Given the description of an element on the screen output the (x, y) to click on. 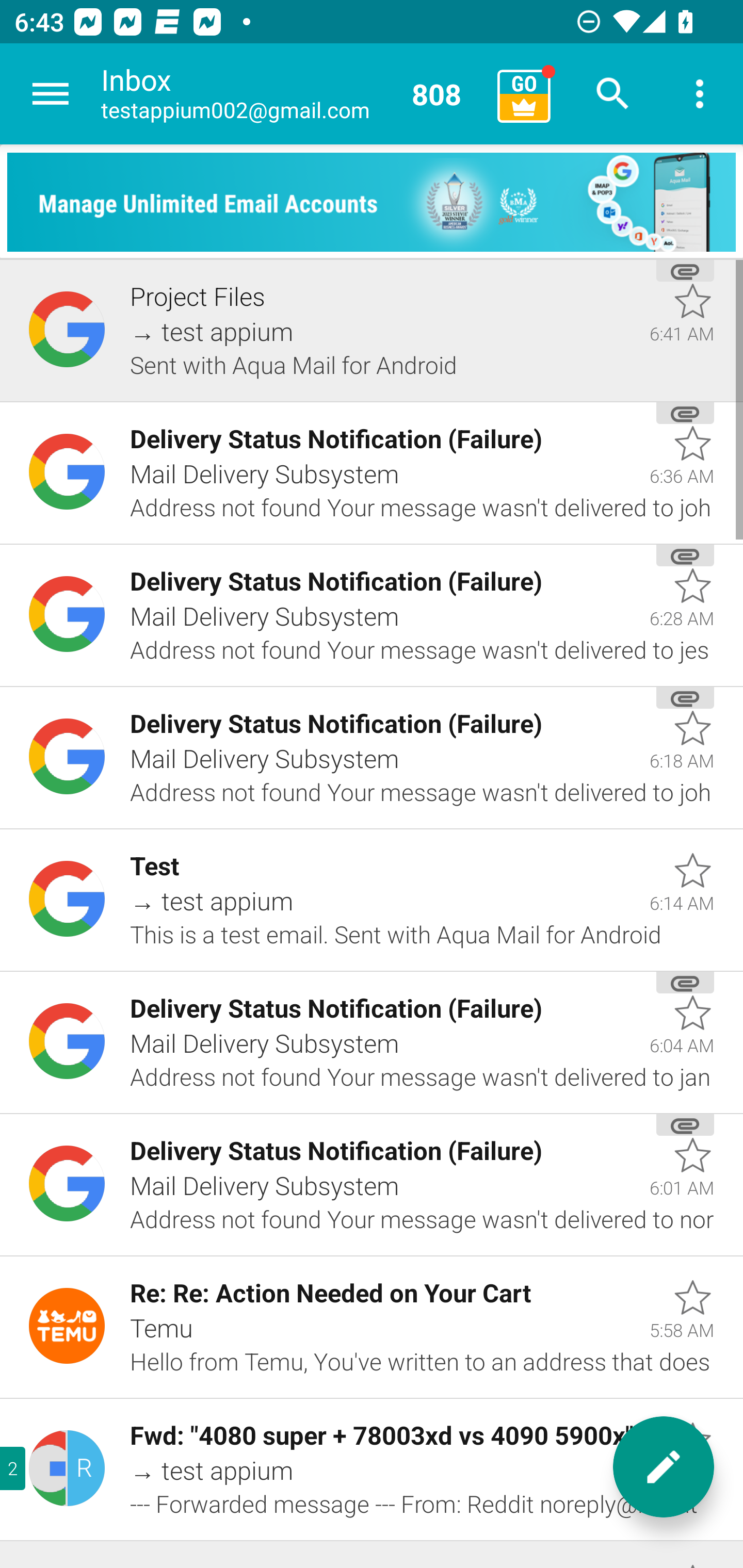
Navigate up (50, 93)
Inbox testappium002@gmail.com 808 (291, 93)
Search (612, 93)
More options (699, 93)
New message (663, 1466)
